Given the description of an element on the screen output the (x, y) to click on. 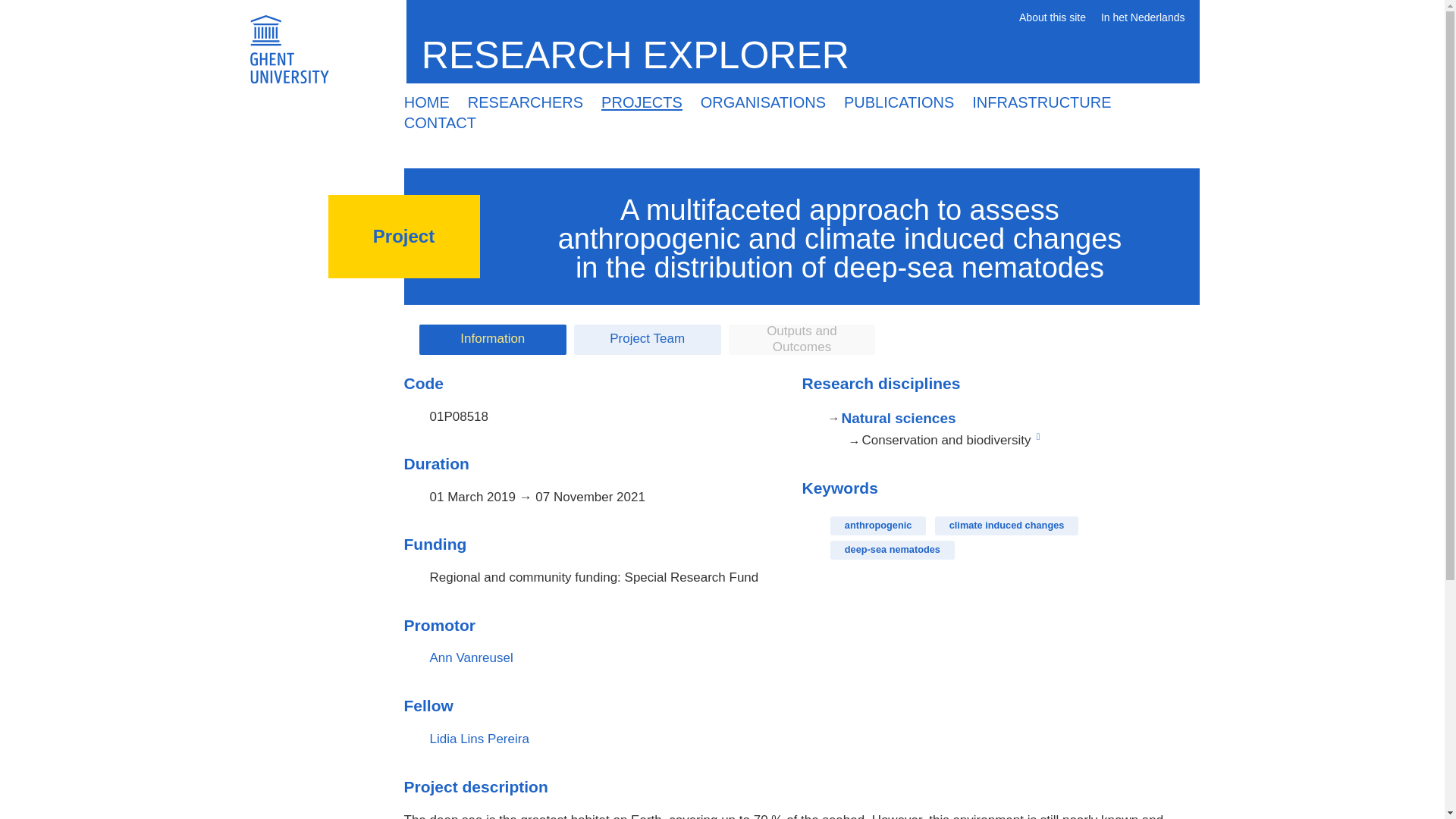
Project Team (646, 339)
Lidia Lins Pereira (478, 739)
Project Information (492, 339)
HOME (426, 102)
Outputs and Outcomes (802, 339)
PUBLICATIONS (898, 102)
CONTACT (439, 124)
INFRASTRUCTURE (1040, 102)
RESEARCH EXPLORER (641, 55)
